Given the description of an element on the screen output the (x, y) to click on. 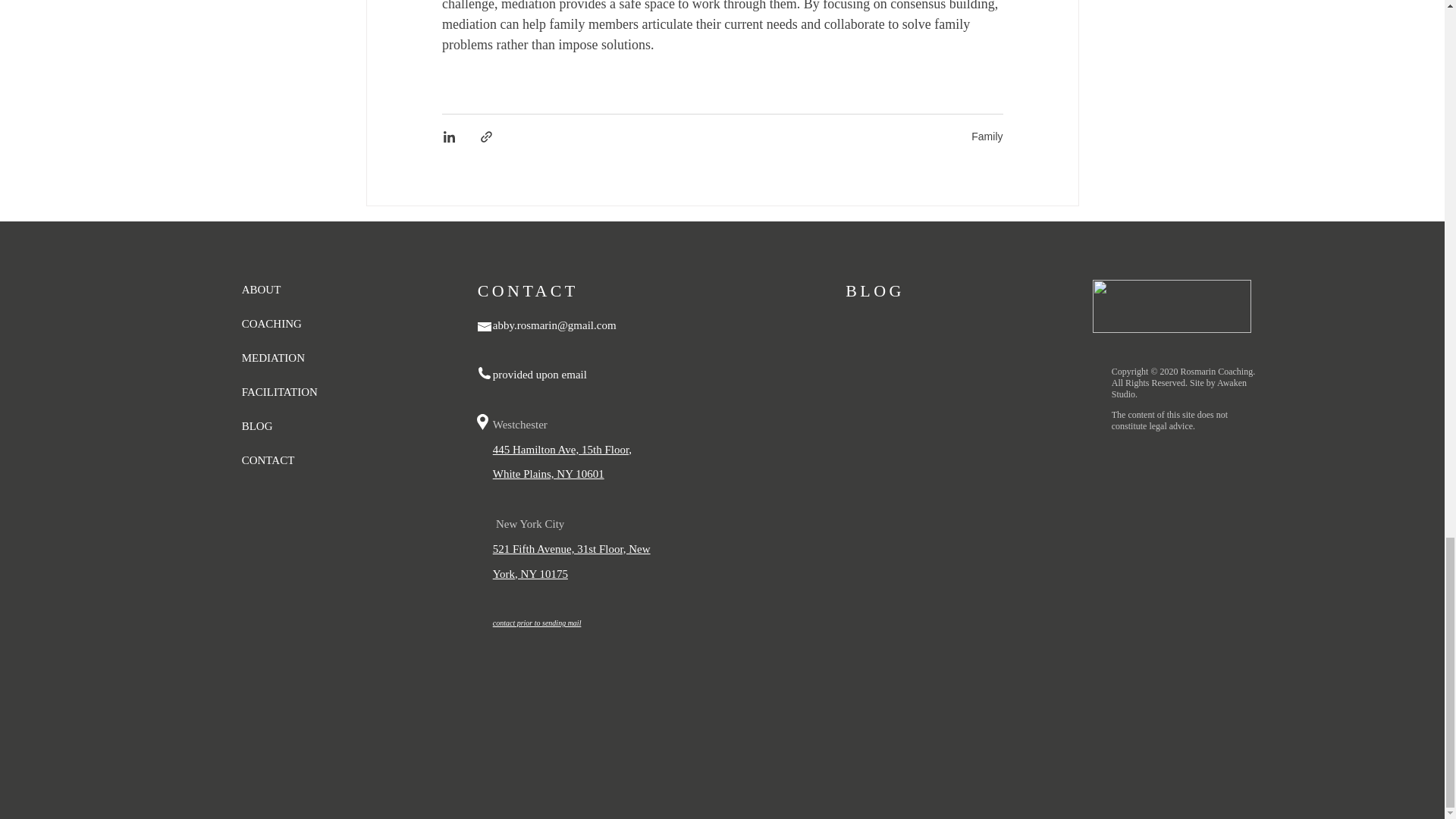
Family (987, 136)
MEDIATION (272, 357)
FACILITATION (279, 391)
Awaken Studio (1179, 388)
445 Hamilton Ave, 15th Floor, White Plains, NY 10601 (562, 461)
BLOG (257, 426)
COACHING (271, 323)
521 Fifth Avenue, 31st Floor, New York, NY 10175 (571, 559)
contact prior to sending mail (536, 623)
ABOUT (261, 289)
CONTACT (268, 460)
provided upon email  (541, 386)
BLOG (874, 290)
